Given the description of an element on the screen output the (x, y) to click on. 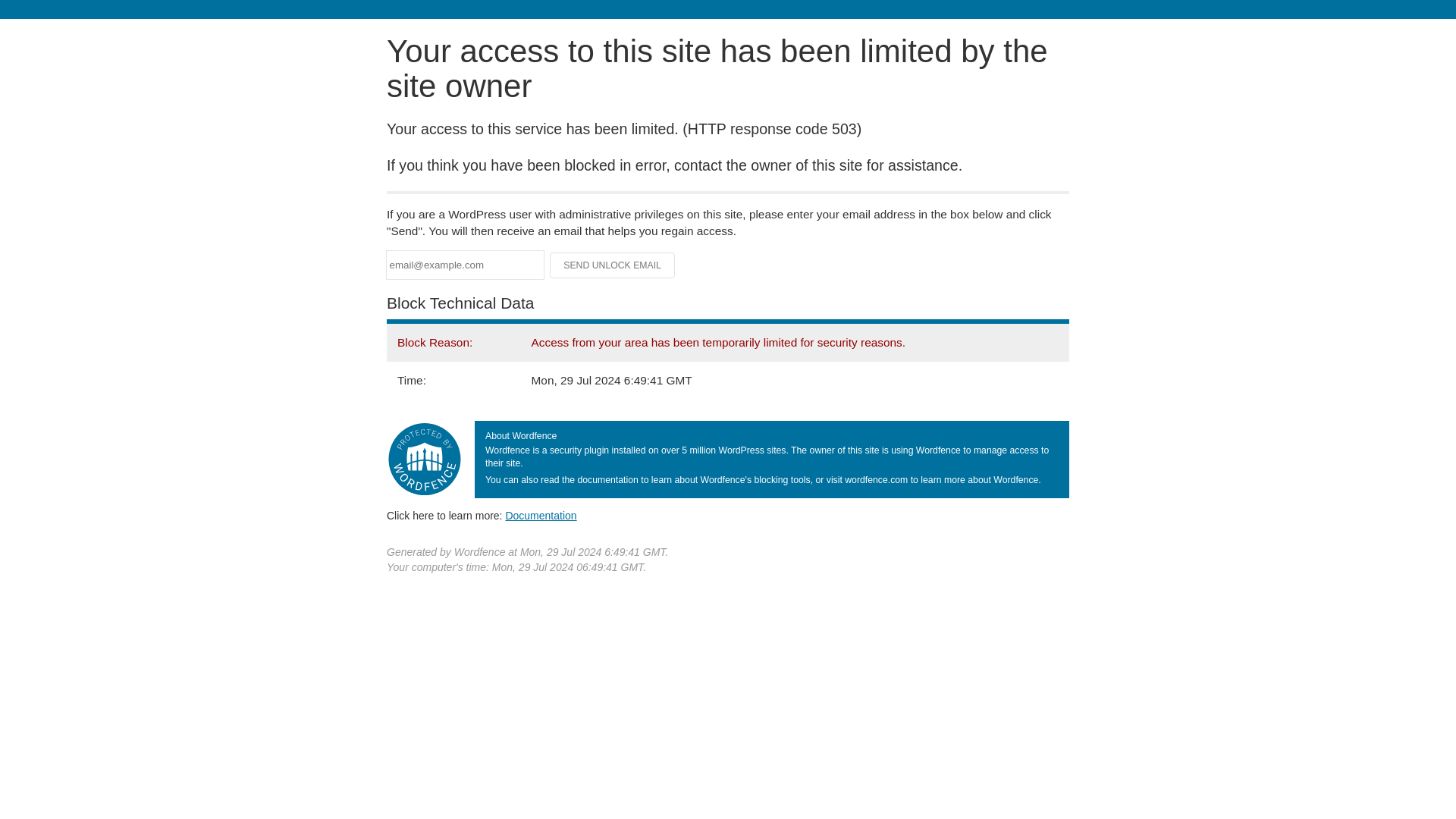
Send Unlock Email (612, 265)
Send Unlock Email (612, 265)
Documentation (540, 515)
